Given the description of an element on the screen output the (x, y) to click on. 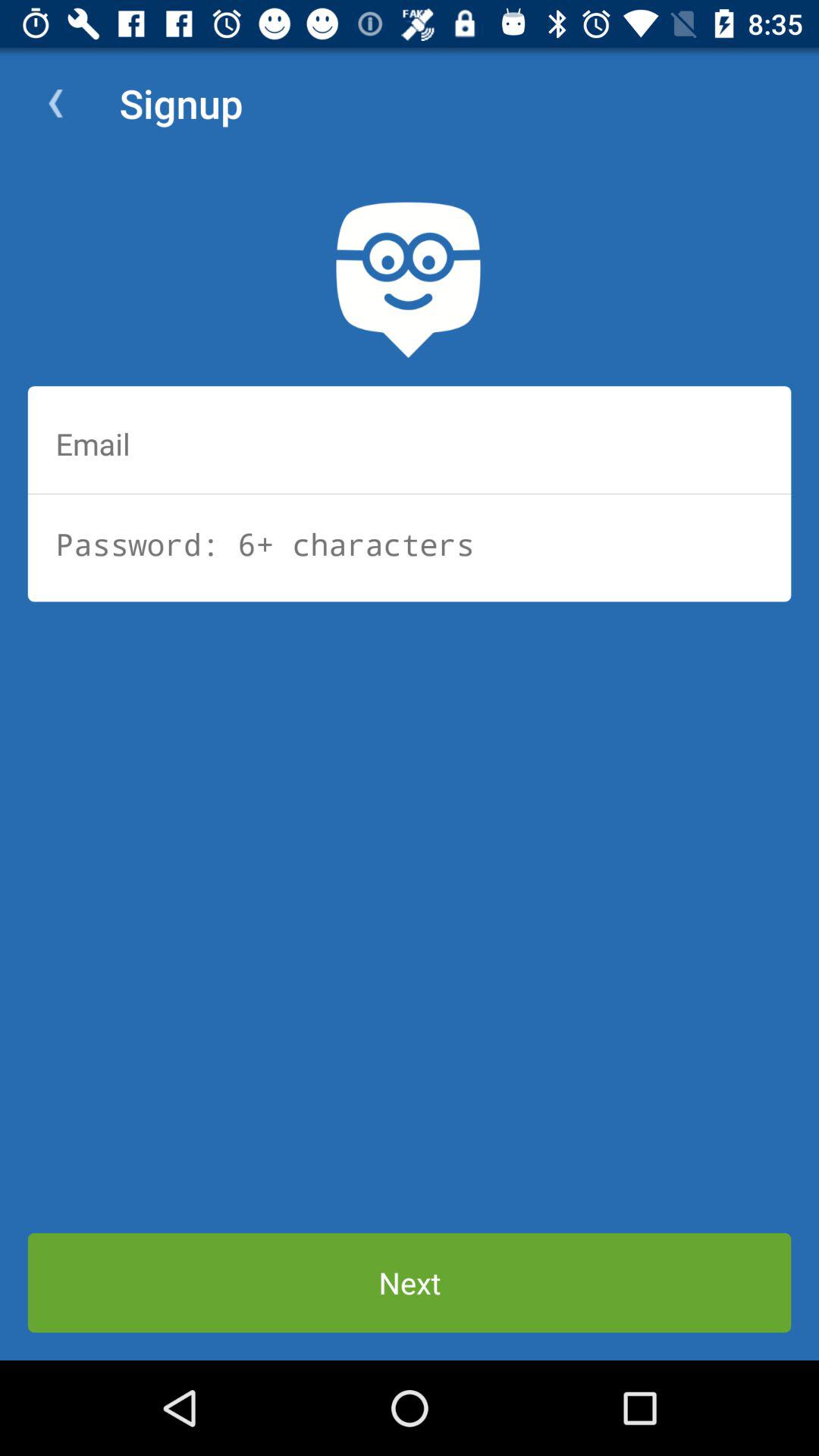
emails available (409, 443)
